Given the description of an element on the screen output the (x, y) to click on. 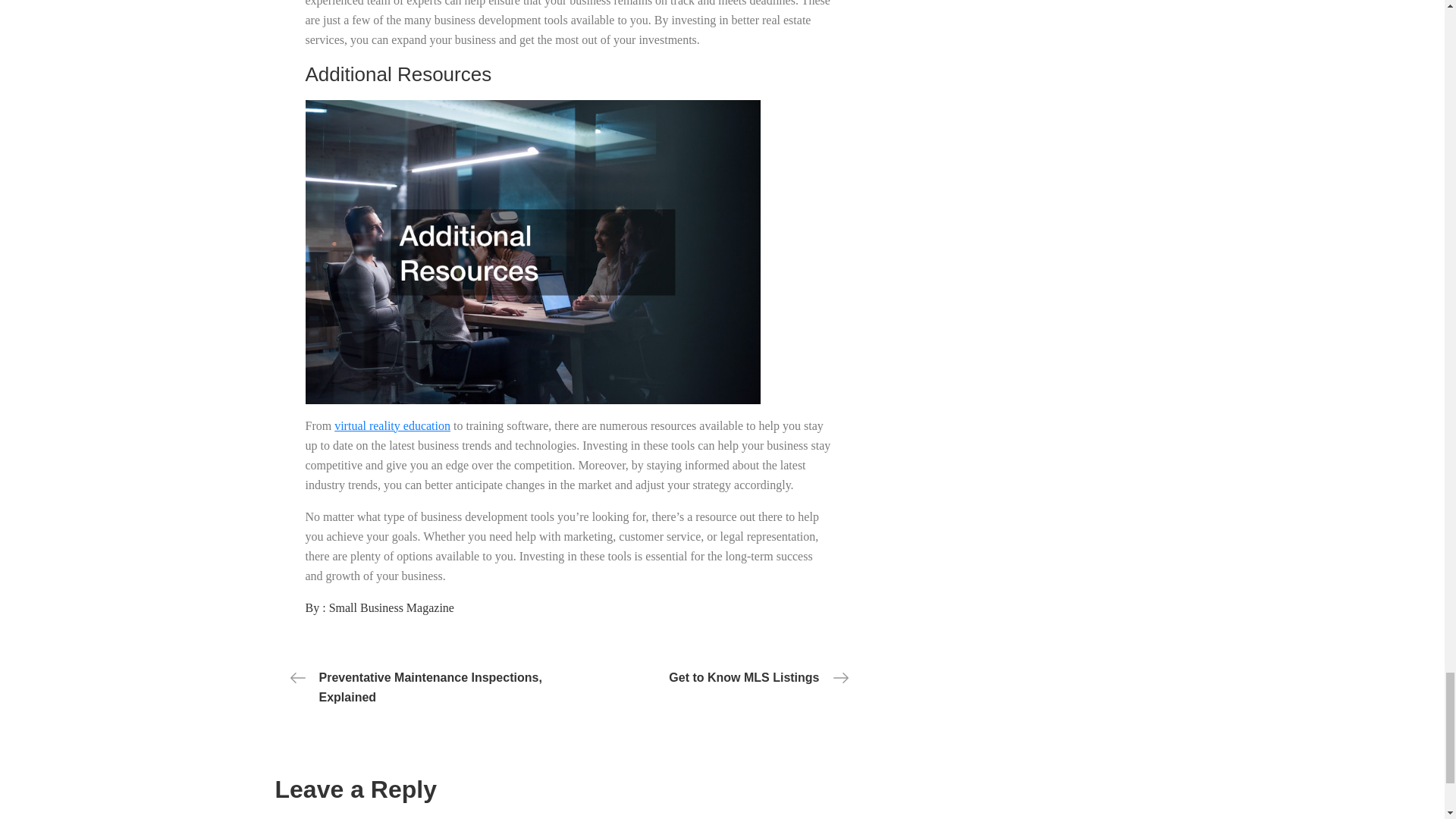
Small Business Magazine (391, 607)
virtual reality education (391, 425)
